Given the description of an element on the screen output the (x, y) to click on. 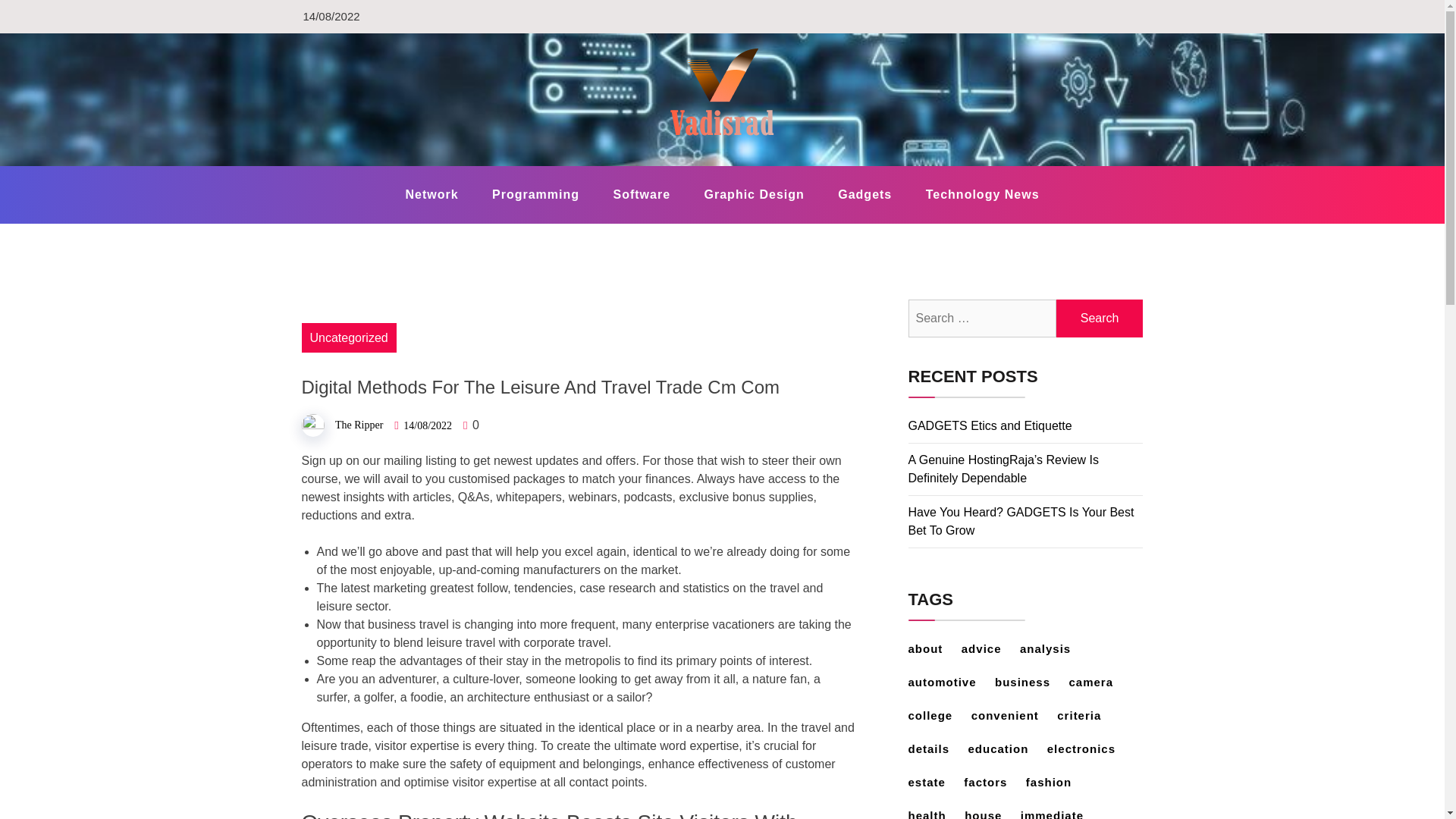
The Ripper (358, 424)
VDSR (339, 164)
Search (1099, 318)
Have You Heard? GADGETS Is Your Best Bet To Grow (1021, 521)
Search (1099, 318)
Technology News (982, 194)
Gadgets (864, 194)
Uncategorized (348, 337)
about (933, 648)
advice (988, 648)
college (938, 715)
GADGETS Etics and Etiquette (989, 425)
camera (1098, 682)
Programming (535, 194)
business (1029, 682)
